Given the description of an element on the screen output the (x, y) to click on. 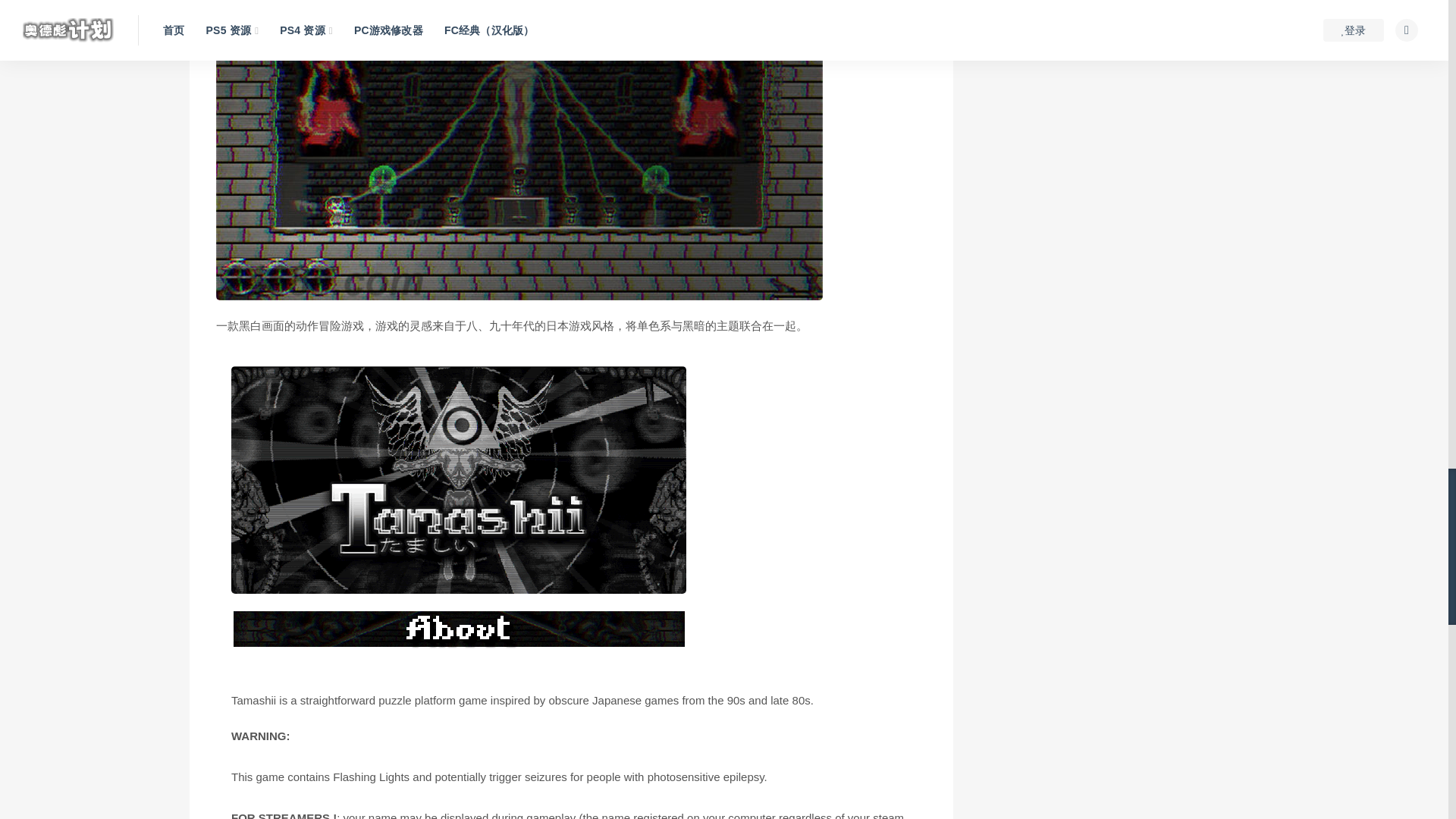
1710860655-a907c97cbb35ae1.gif (458, 628)
1702882371-3a72ff7cfb64951.gif (458, 478)
